Given the description of an element on the screen output the (x, y) to click on. 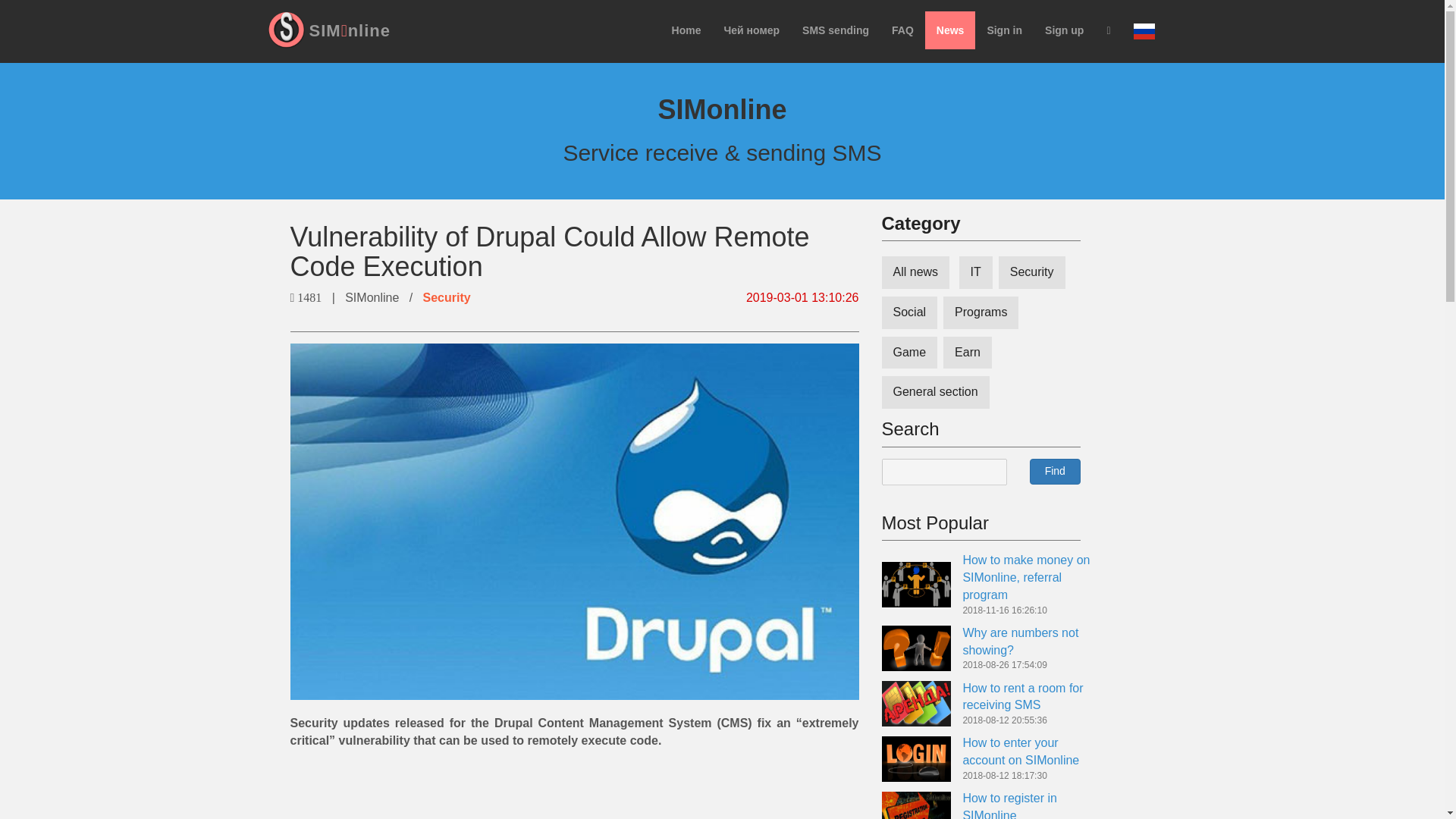
SMS sending (835, 30)
Sign in (1004, 30)
FAQ (902, 30)
Security (446, 297)
Find (1054, 471)
Sign up (1063, 30)
Game (908, 352)
Home (687, 30)
How to rent a room for receiving SMS (1022, 696)
General section (934, 391)
Programs (980, 312)
SIMnline (349, 30)
IT (975, 272)
How to make money on SIMonline, referral program (1025, 577)
News (949, 30)
